Given the description of an element on the screen output the (x, y) to click on. 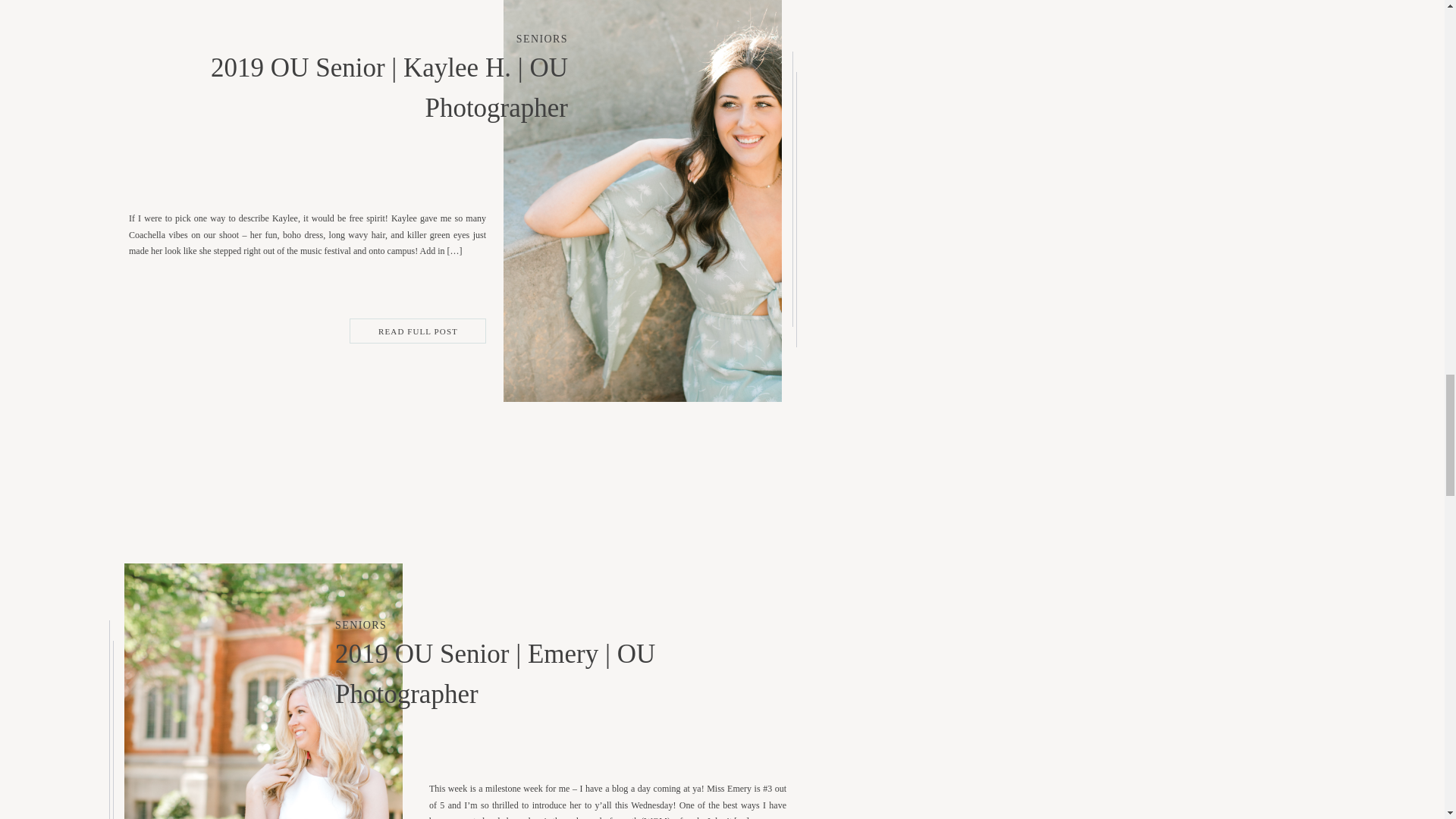
SENIORS (360, 624)
READ FULL POST (418, 331)
SENIORS (541, 39)
